Given the description of an element on the screen output the (x, y) to click on. 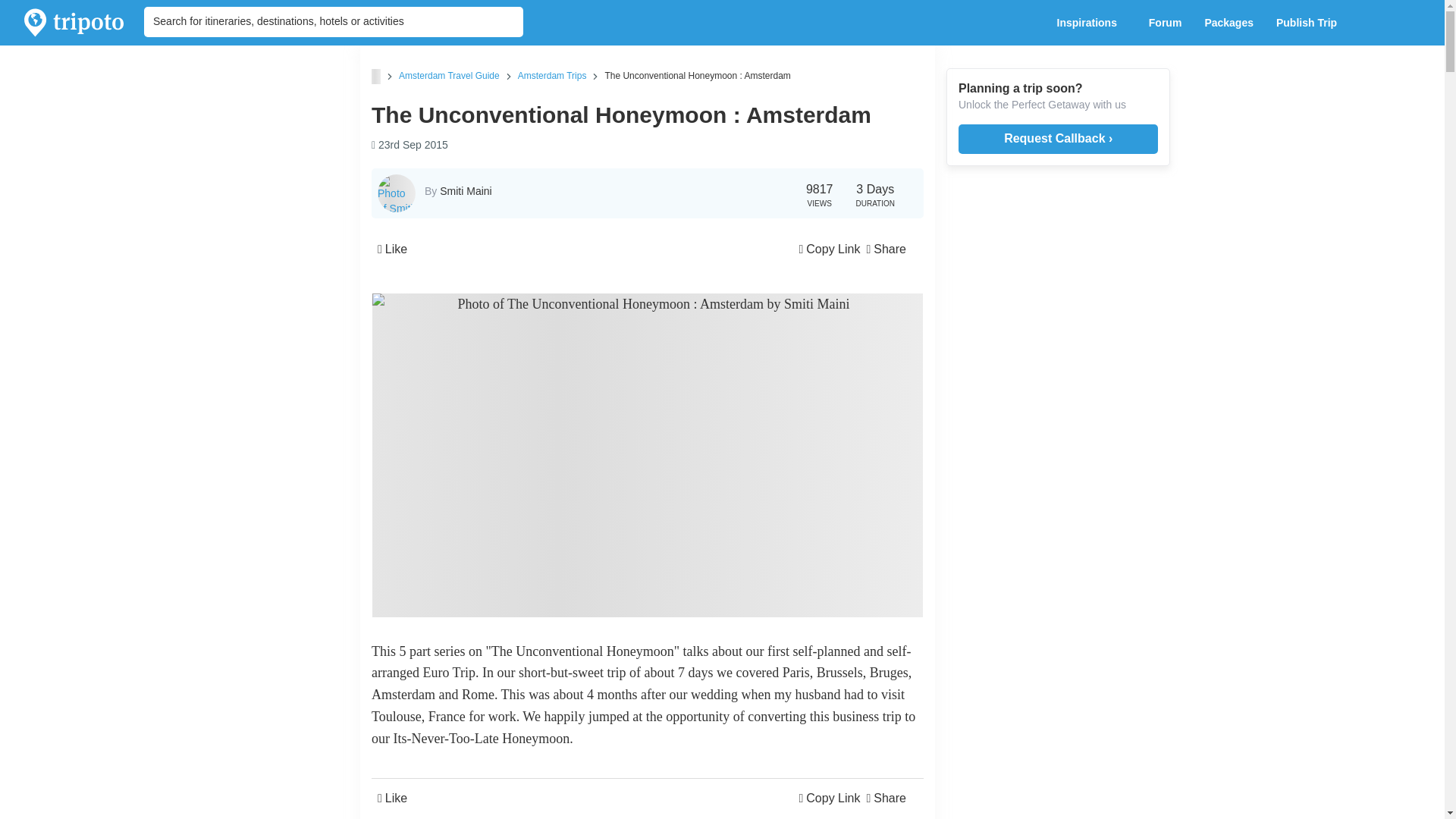
The Unconventional Honeymoon : Amsterdam (697, 75)
Publish Trip  (1310, 22)
Publish Trip (1310, 22)
Packages (1228, 22)
Packages (1228, 22)
Forum (1165, 22)
Tripoto: India's Largest Community of Travellers (73, 22)
Forum (1165, 22)
Inspirations (1091, 22)
Amsterdam Trips (552, 75)
By Smiti Maini (458, 190)
Amsterdam Travel Guide (448, 75)
Airbnb (529, 783)
Inspirations (1091, 22)
